Given the description of an element on the screen output the (x, y) to click on. 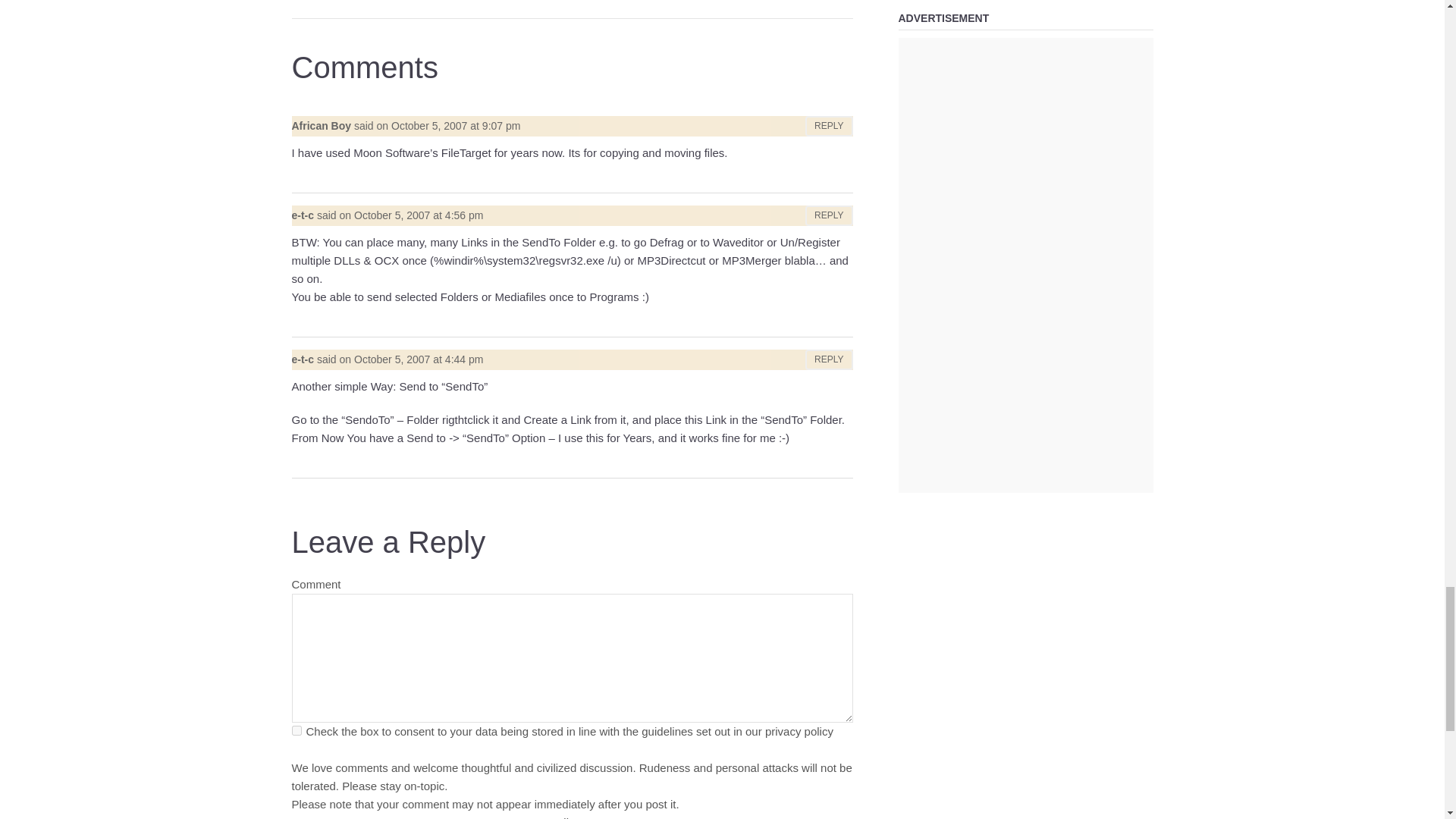
privacy-key (296, 730)
